Given the description of an element on the screen output the (x, y) to click on. 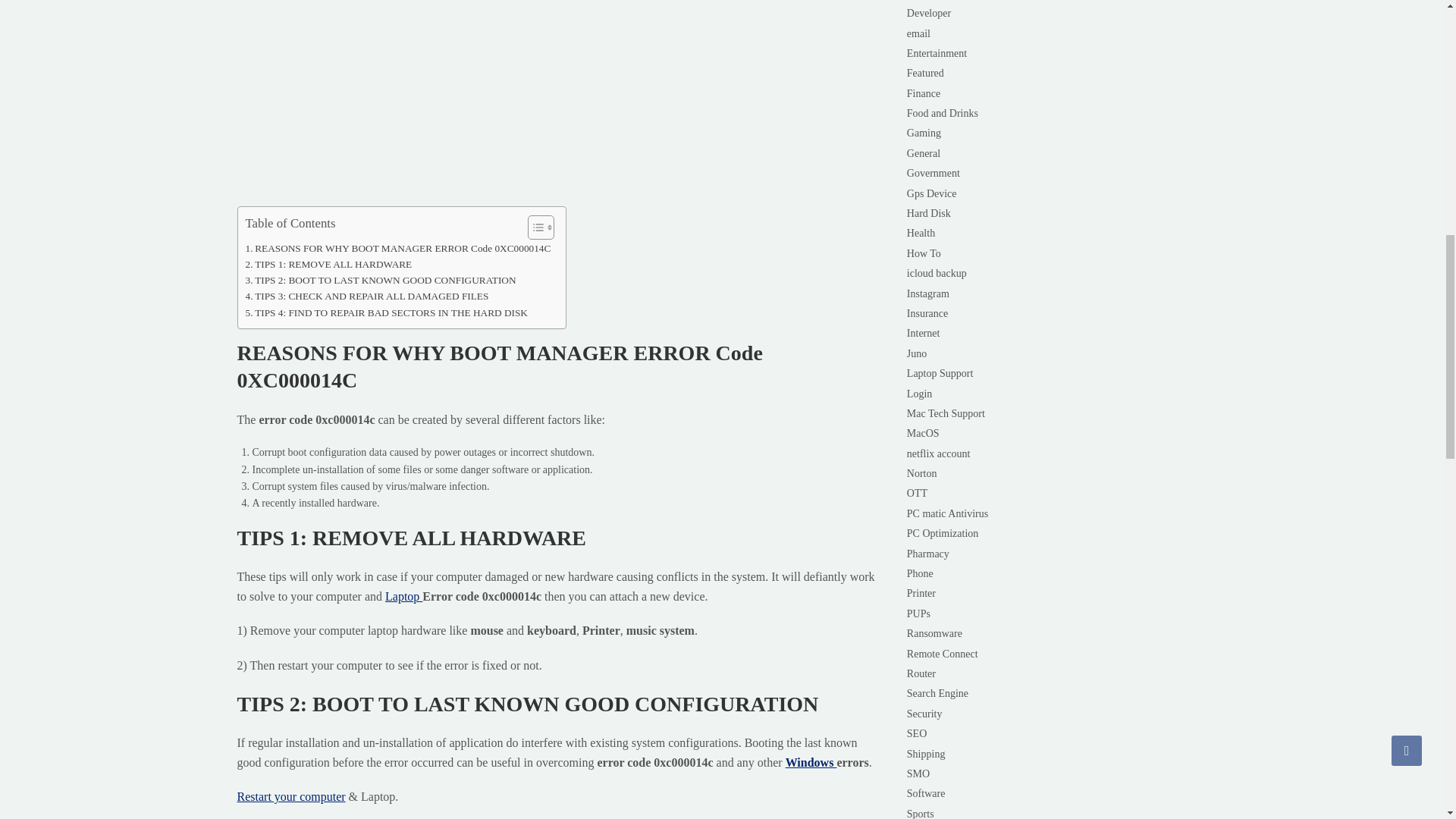
Restart your computer (290, 796)
TIPS 4: FIND TO REPAIR BAD SECTORS IN THE HARD DISK (386, 312)
TIPS 2: BOOT TO LAST KNOWN GOOD CONFIGURATION (381, 279)
TIPS 1: REMOVE ALL HARDWARE (329, 263)
REASONS FOR WHY BOOT MANAGER ERROR Code 0XC000014C (398, 247)
TIPS 1: REMOVE ALL HARDWARE (329, 263)
TIPS 3: CHECK AND REPAIR ALL DAMAGED FILES (367, 295)
REASONS FOR WHY BOOT MANAGER ERROR Code 0XC000014C (398, 247)
TIPS 3: CHECK AND REPAIR ALL DAMAGED FILES (367, 295)
TIPS 4: FIND TO REPAIR BAD SECTORS IN THE HARD DISK (386, 312)
Windows (811, 762)
Laptop (403, 595)
TIPS 2: BOOT TO LAST KNOWN GOOD CONFIGURATION (381, 279)
